Given the description of an element on the screen output the (x, y) to click on. 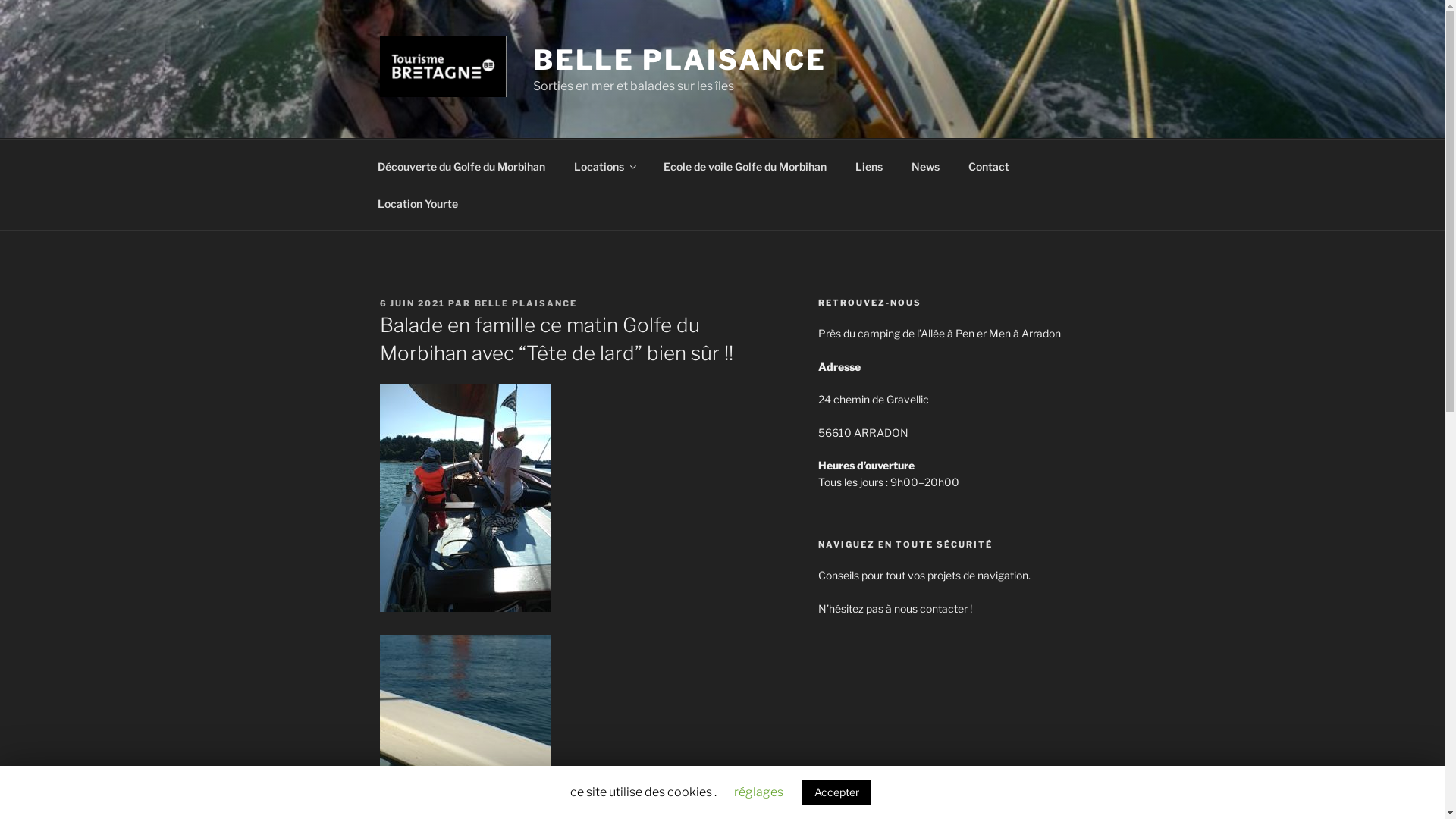
News Element type: text (924, 165)
Locations Element type: text (604, 165)
Liens Element type: text (868, 165)
BELLE PLAISANCE Element type: text (525, 303)
6 JUIN 2021 Element type: text (412, 303)
Location Yourte Element type: text (417, 203)
Accepter Element type: text (836, 792)
BELLE PLAISANCE Element type: text (679, 59)
Contact Element type: text (988, 165)
Aller au contenu principal Element type: text (0, 0)
Ecole de voile Golfe du Morbihan Element type: text (745, 165)
